Given the description of an element on the screen output the (x, y) to click on. 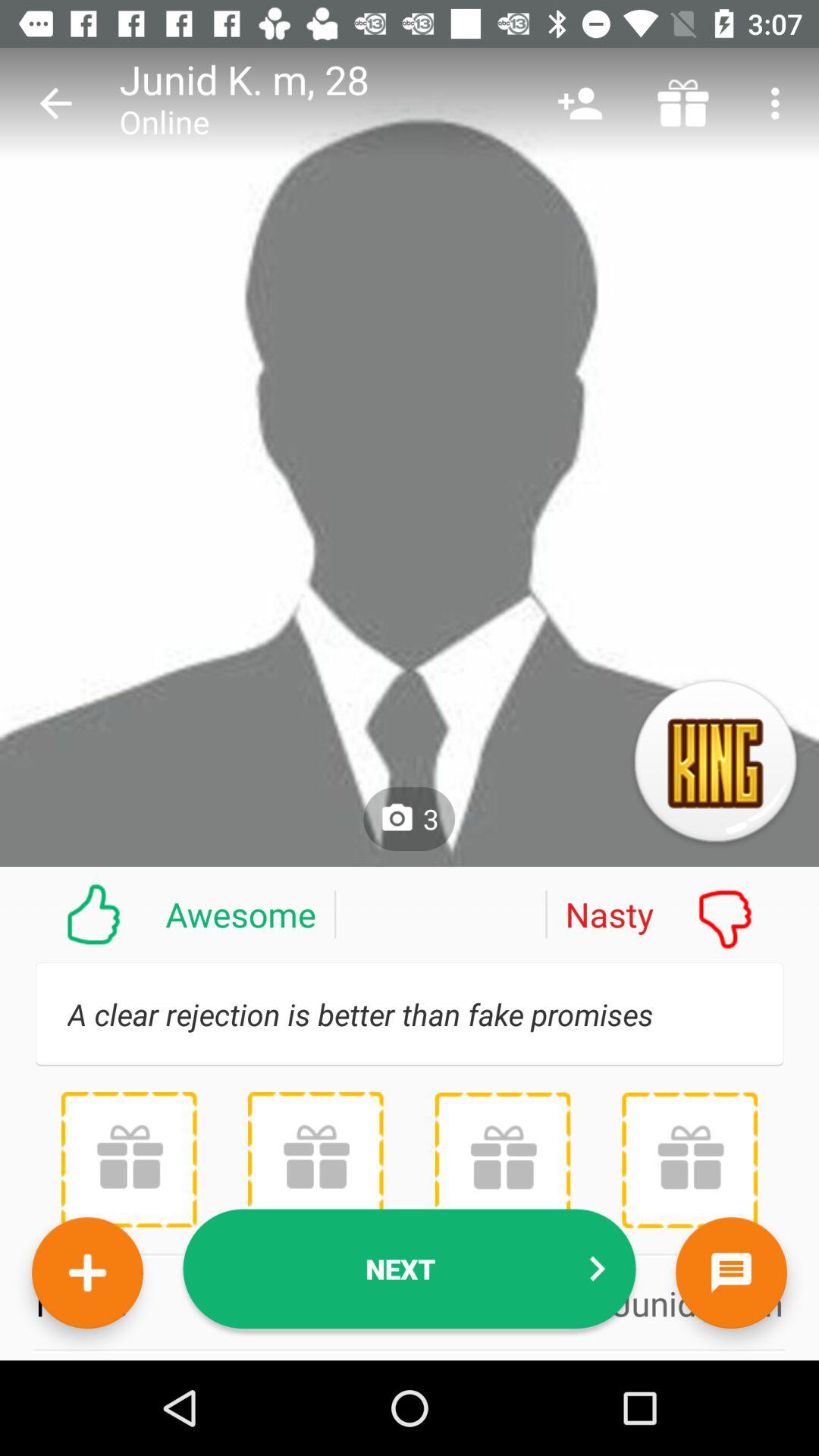
choose the awesome item (168, 914)
